Given the description of an element on the screen output the (x, y) to click on. 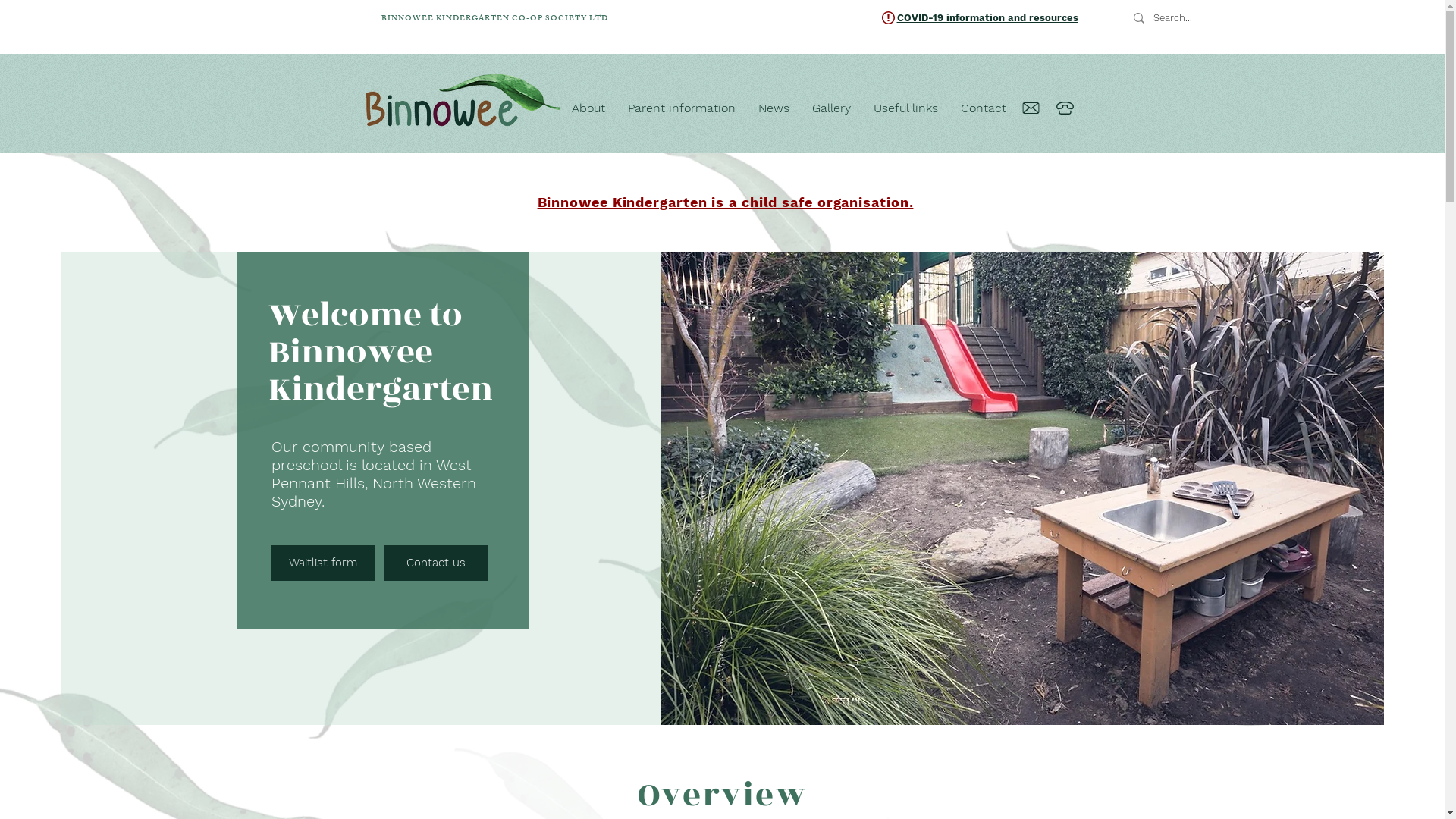
Contact us Element type: text (436, 562)
About Element type: text (588, 108)
Waitlist form Element type: text (323, 562)
Parent information Element type: text (681, 108)
Useful links Element type: text (905, 108)
Binnowee Kindergarten is a child safe organisation. Element type: text (725, 202)
Gallery Element type: text (831, 108)
Contact Element type: text (983, 108)
COVID-19 information and resources Element type: text (986, 17)
News Element type: text (773, 108)
